Given the description of an element on the screen output the (x, y) to click on. 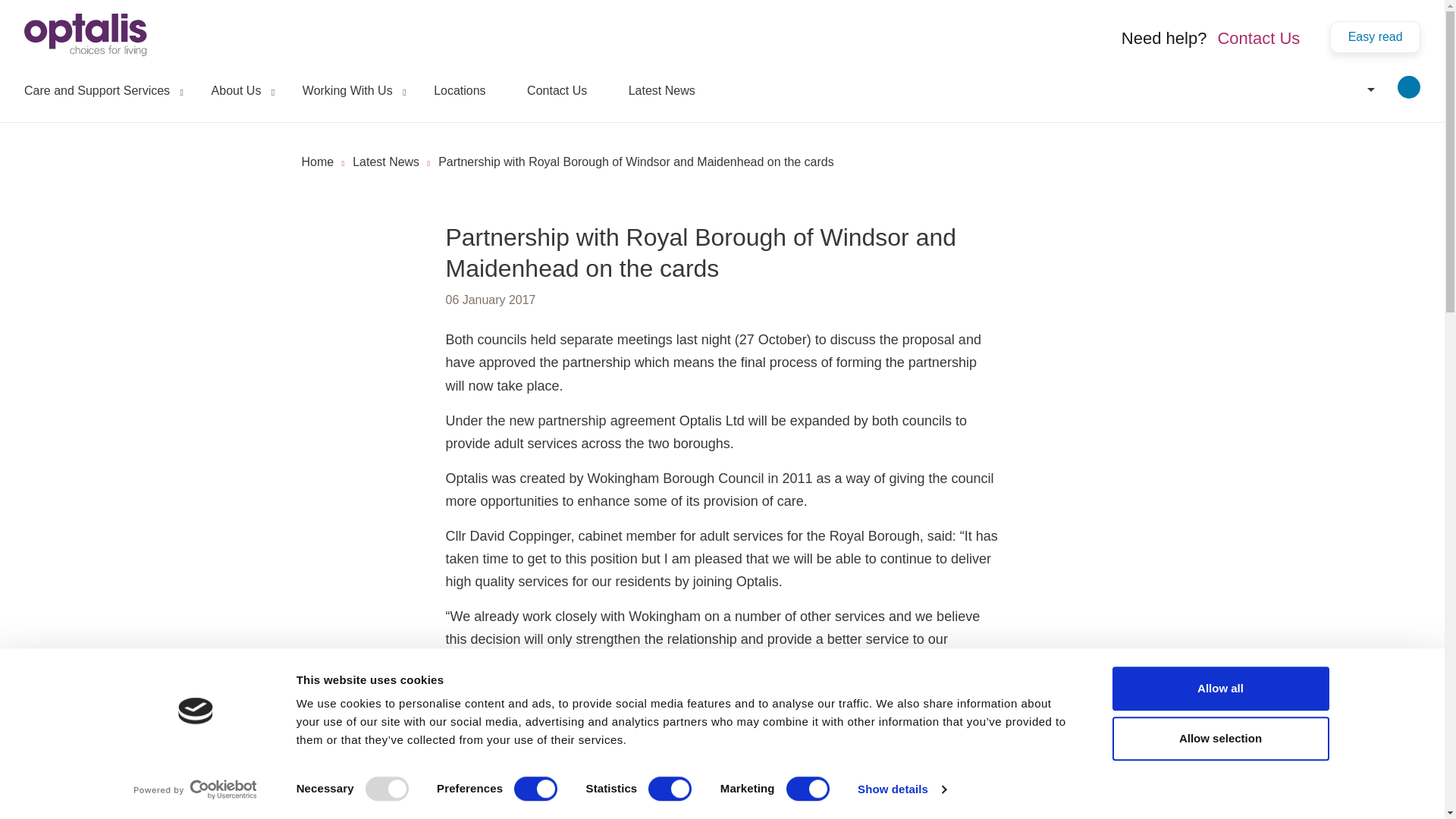
Allow selection (1219, 738)
Allow all (1219, 688)
Contact Us (1255, 37)
Easy read (1375, 37)
Show details (900, 789)
